Given the description of an element on the screen output the (x, y) to click on. 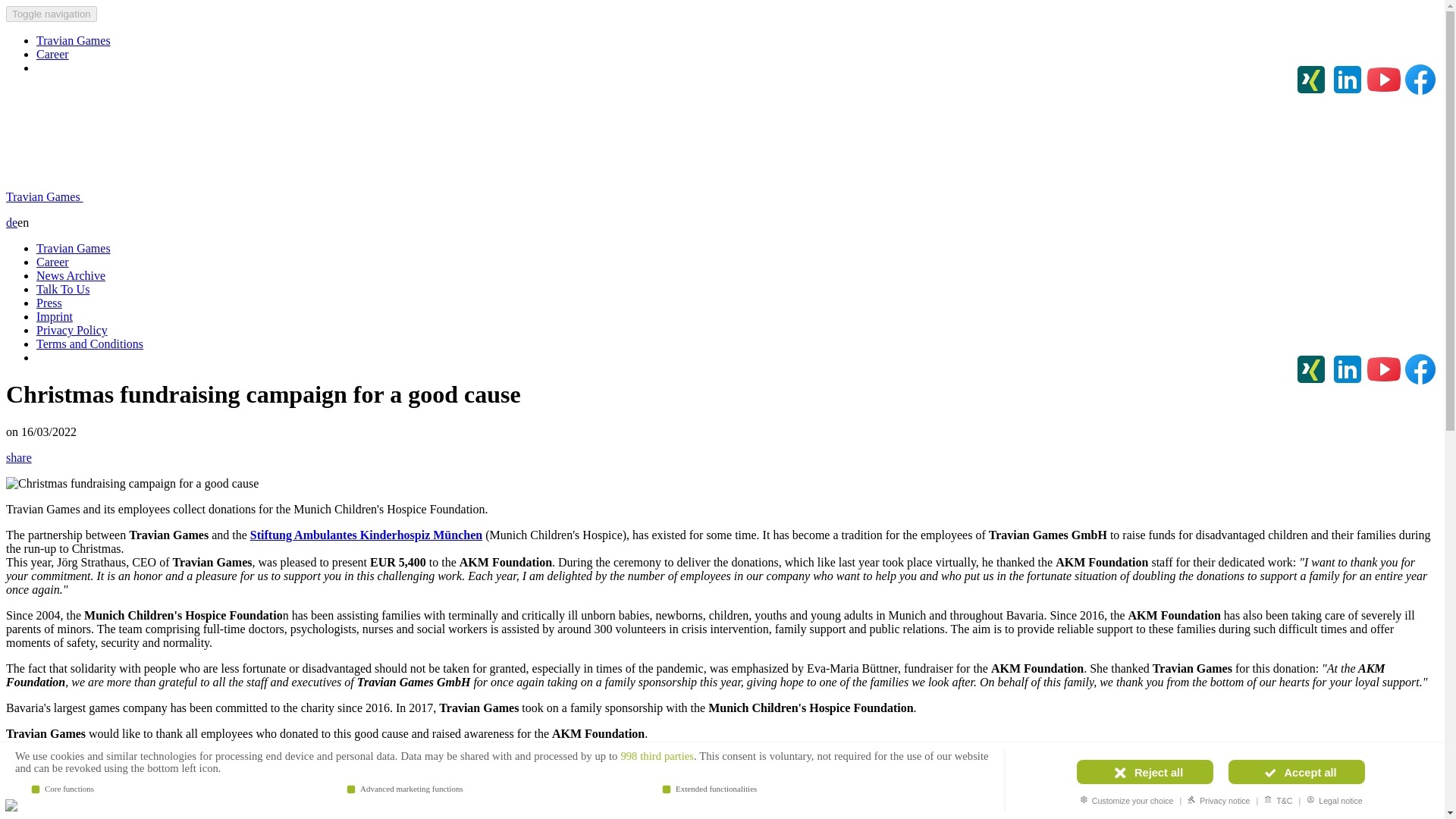
News Archive (70, 275)
Career (52, 53)
Travian Games (73, 40)
share (18, 457)
News archive (38, 784)
Privacy settings (17, 801)
Language: en (11, 805)
Imprint (54, 316)
share (18, 758)
Reject all (1144, 771)
Legal notice (1334, 799)
AKM (365, 534)
Talk To Us (62, 288)
Terms and Conditions (89, 343)
998 third parties (657, 756)
